Given the description of an element on the screen output the (x, y) to click on. 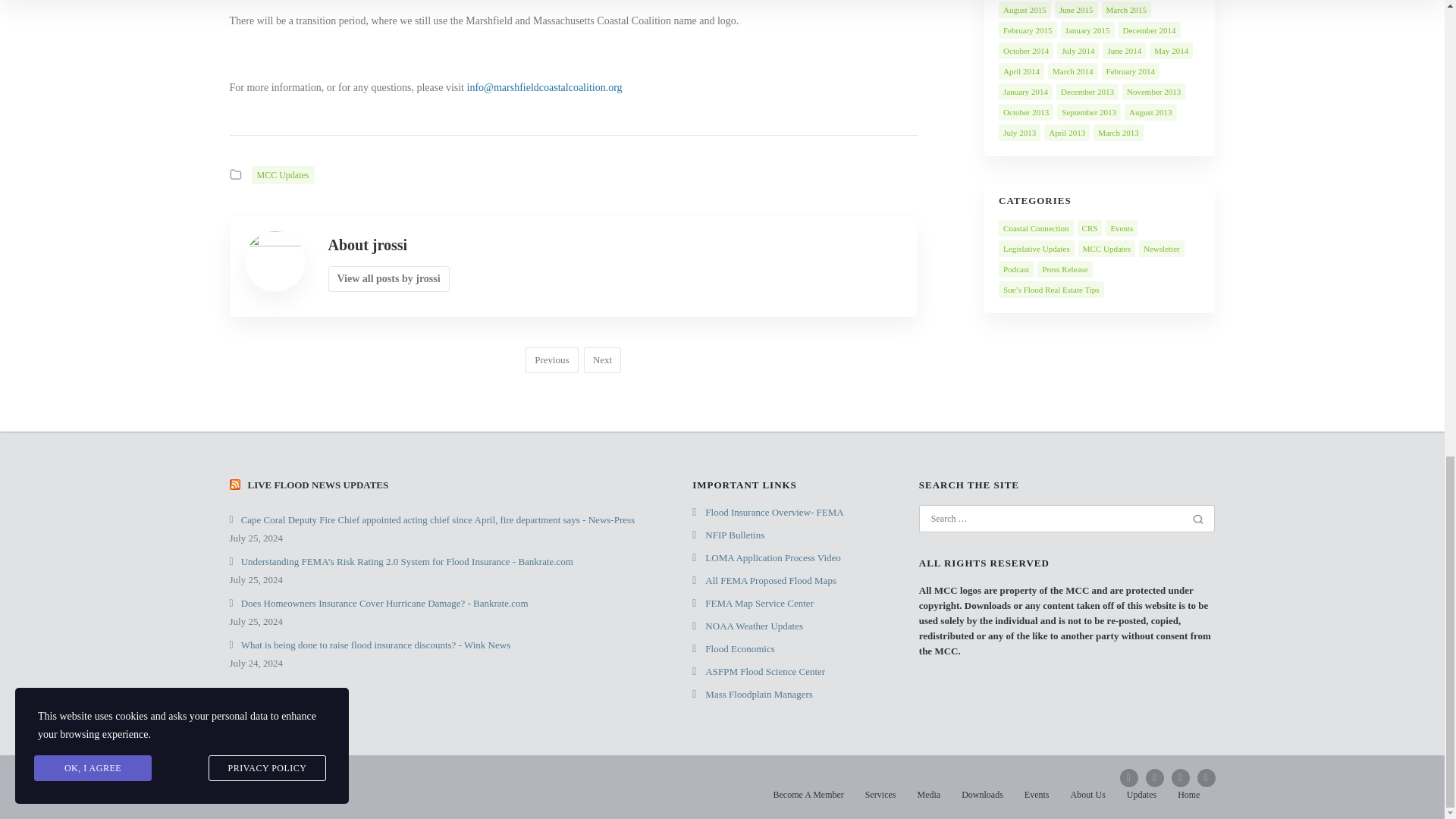
Search (1197, 519)
Search (1197, 519)
Search for: (1056, 519)
